Given the description of an element on the screen output the (x, y) to click on. 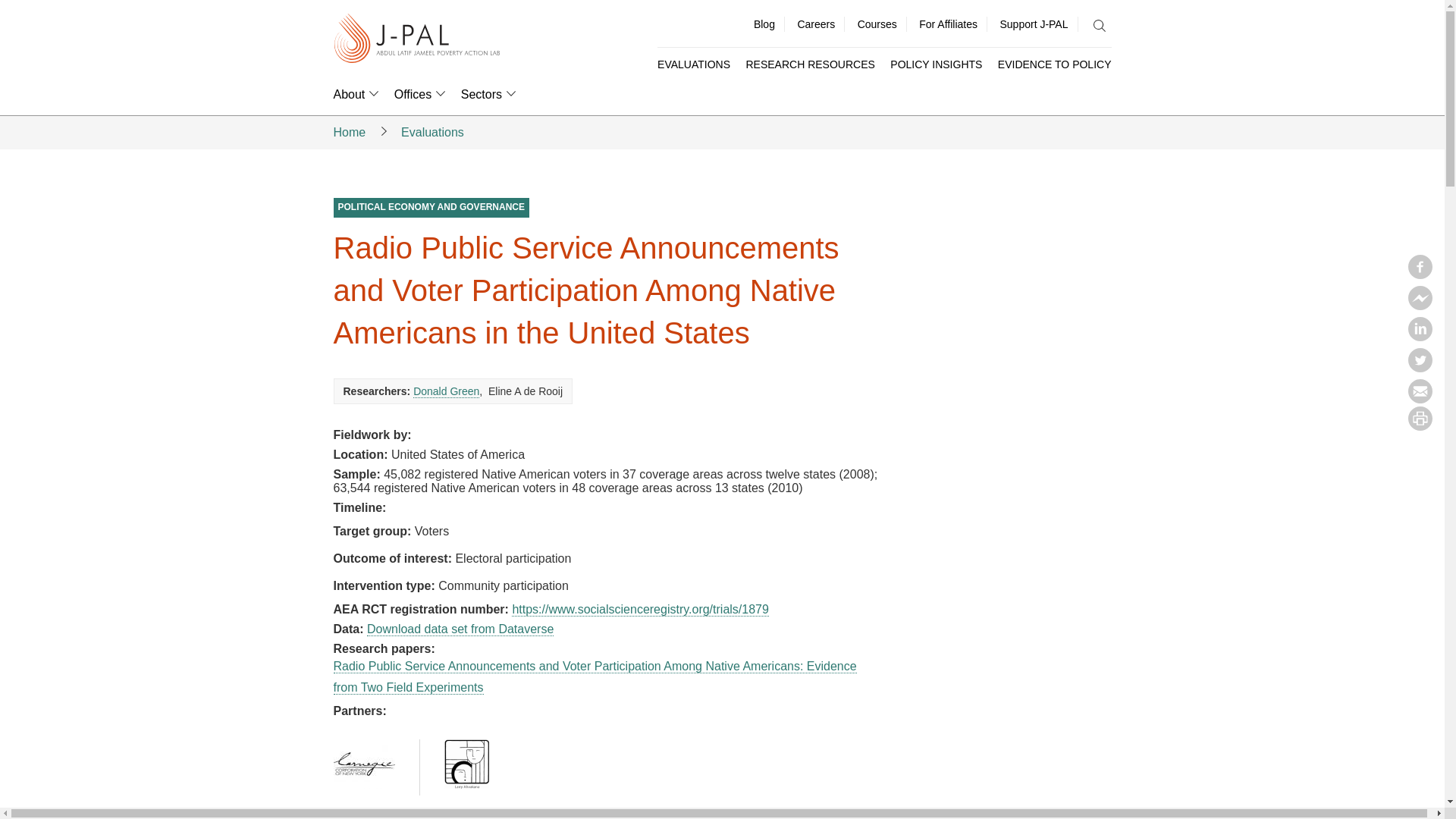
Koahnic Broadcast Corporation (466, 763)
J-PAL (416, 39)
Facebook (1419, 274)
Email (1419, 399)
Linkedin (1419, 336)
Facebook messenger (1419, 305)
Twitter (1419, 367)
Carnegie Corporation of New York (363, 763)
print (1419, 426)
